Given the description of an element on the screen output the (x, y) to click on. 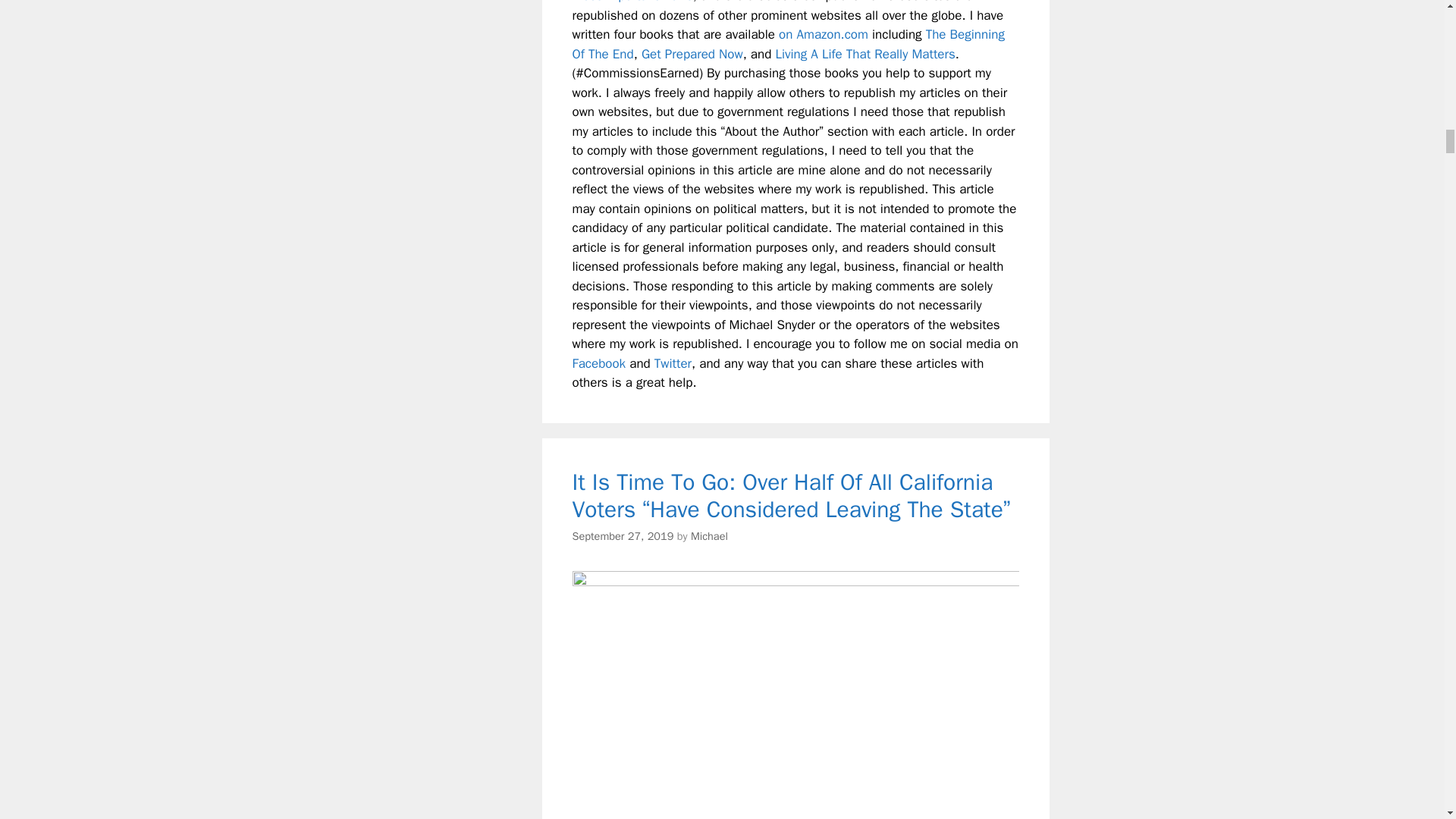
The Beginning Of The End (788, 44)
September 27, 2019 (622, 535)
Facebook (599, 363)
Living A Life That Really Matters (864, 53)
Michael (709, 535)
on Amazon.com (822, 34)
Get Prepared Now (692, 53)
Twitter (672, 363)
